Given the description of an element on the screen output the (x, y) to click on. 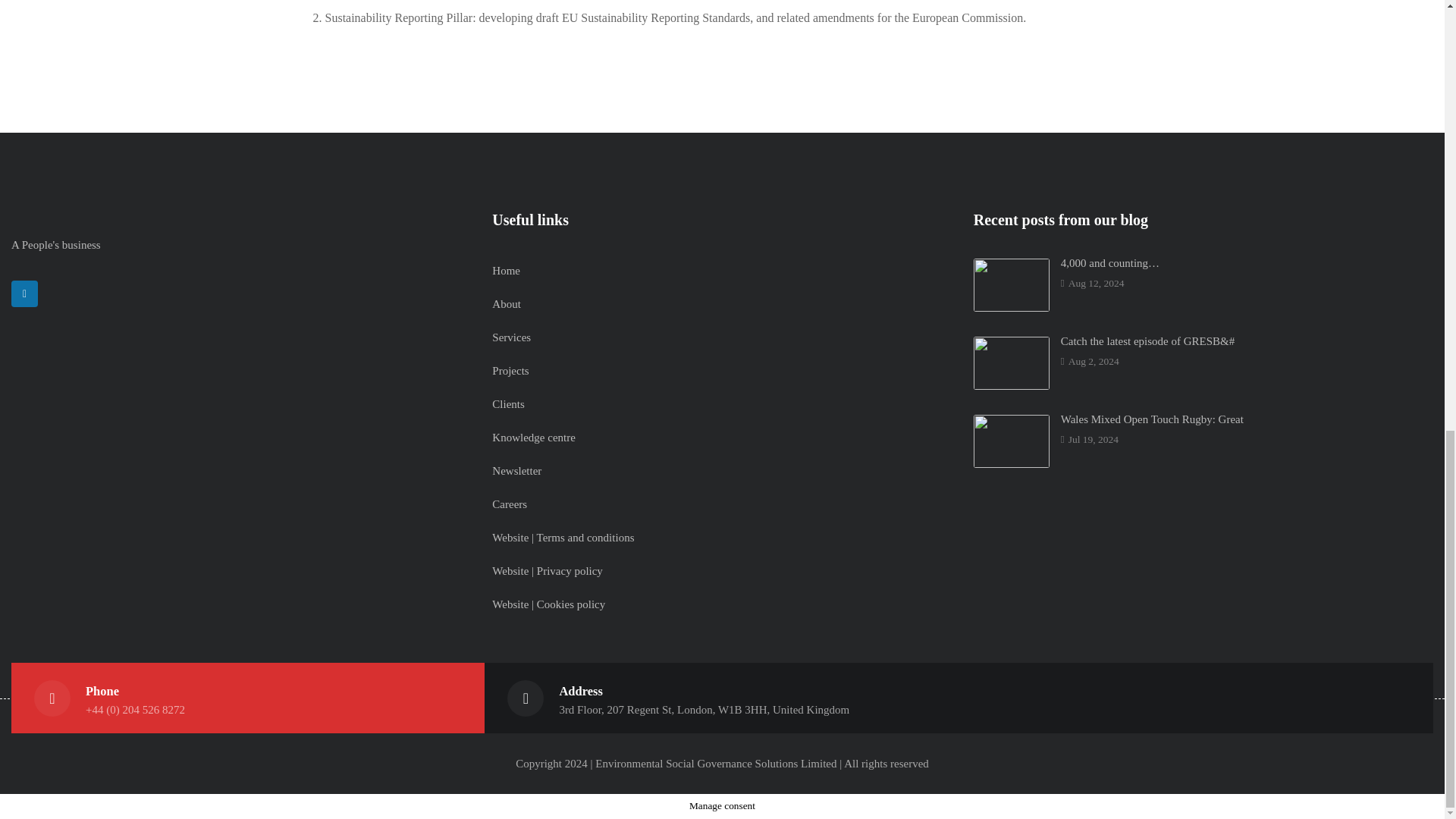
Services (511, 337)
Projects (510, 370)
Clients (508, 404)
About (506, 304)
Home (505, 270)
